Given the description of an element on the screen output the (x, y) to click on. 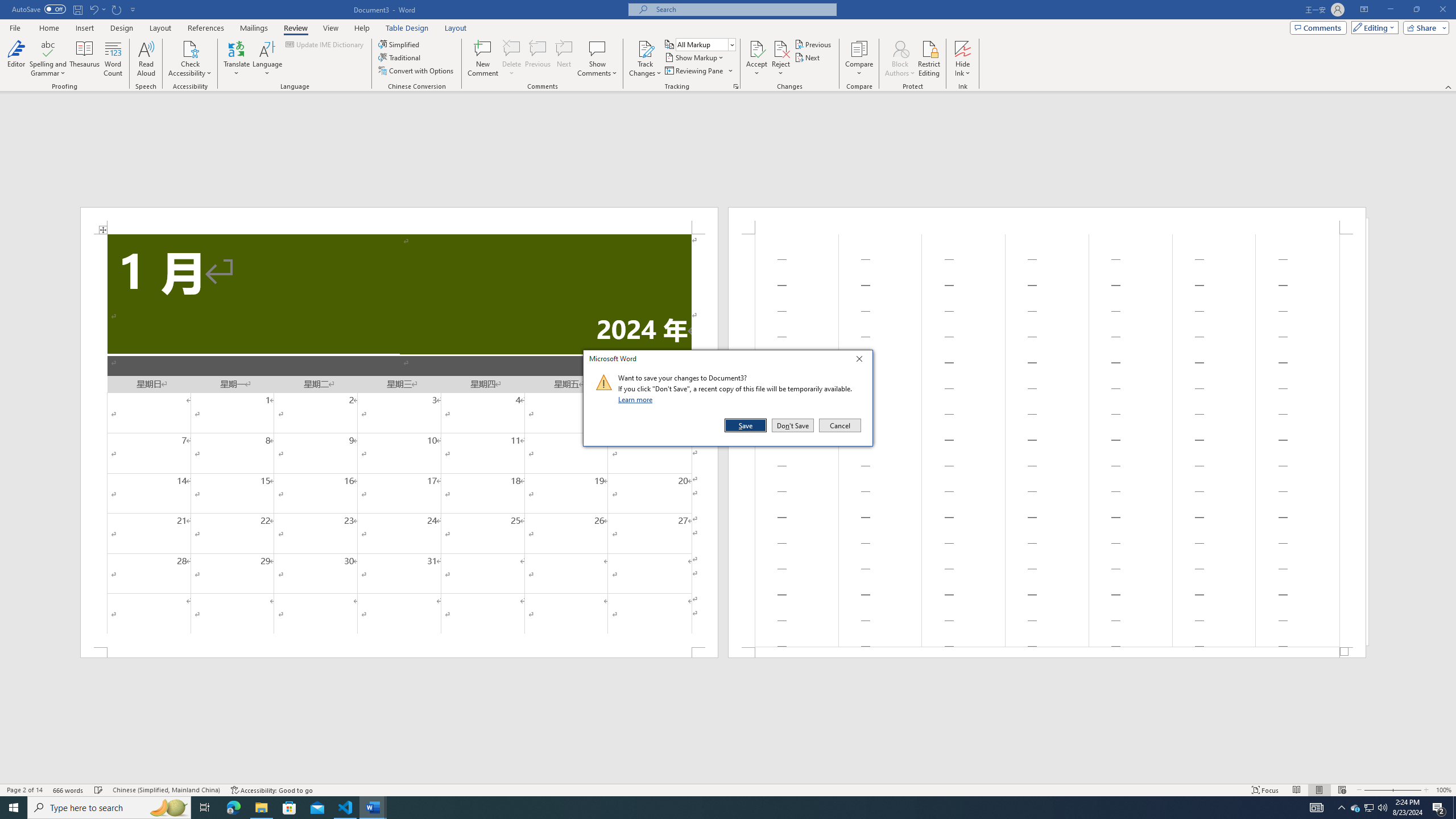
Task View (204, 807)
Check Accessibility (189, 58)
Spelling and Grammar (48, 48)
AutomationID: 4105 (1316, 807)
Delete (511, 48)
Language (267, 58)
File Explorer - 1 running window (261, 807)
Reviewing Pane (694, 69)
Microsoft Store (289, 807)
Restrict Editing (929, 58)
